Given the description of an element on the screen output the (x, y) to click on. 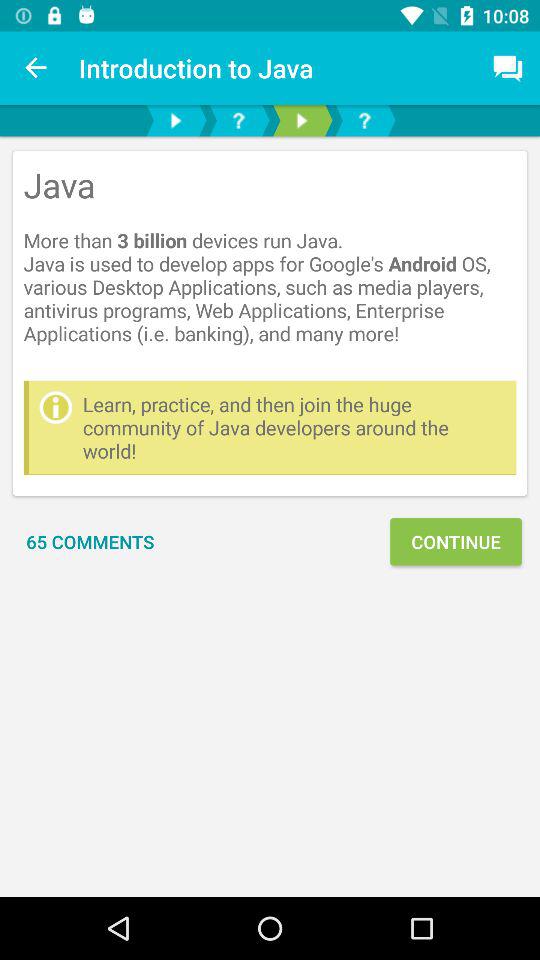
select the icon below learn practice and (455, 541)
